Given the description of an element on the screen output the (x, y) to click on. 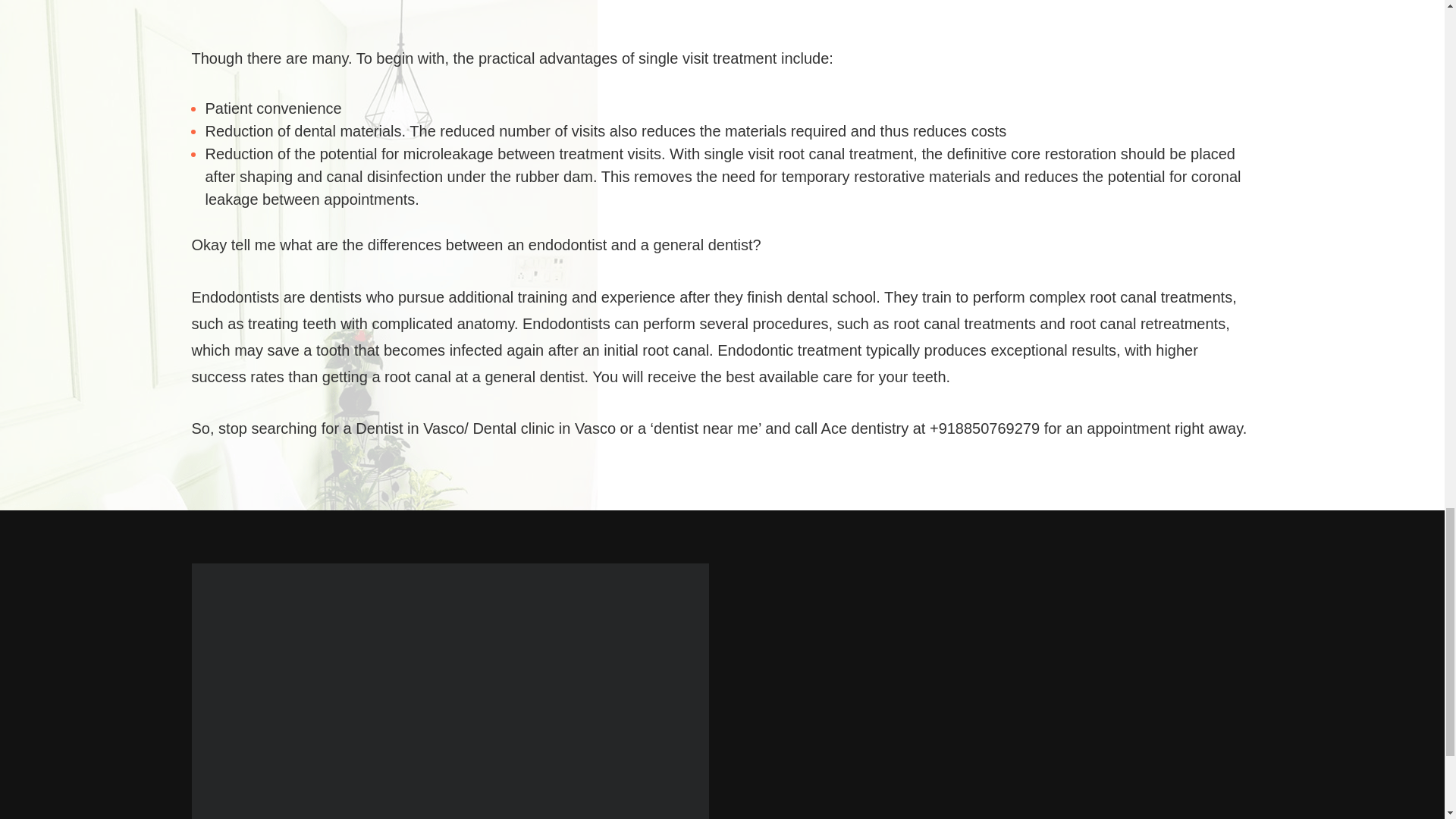
Sitemap (760, 818)
